Given the description of an element on the screen output the (x, y) to click on. 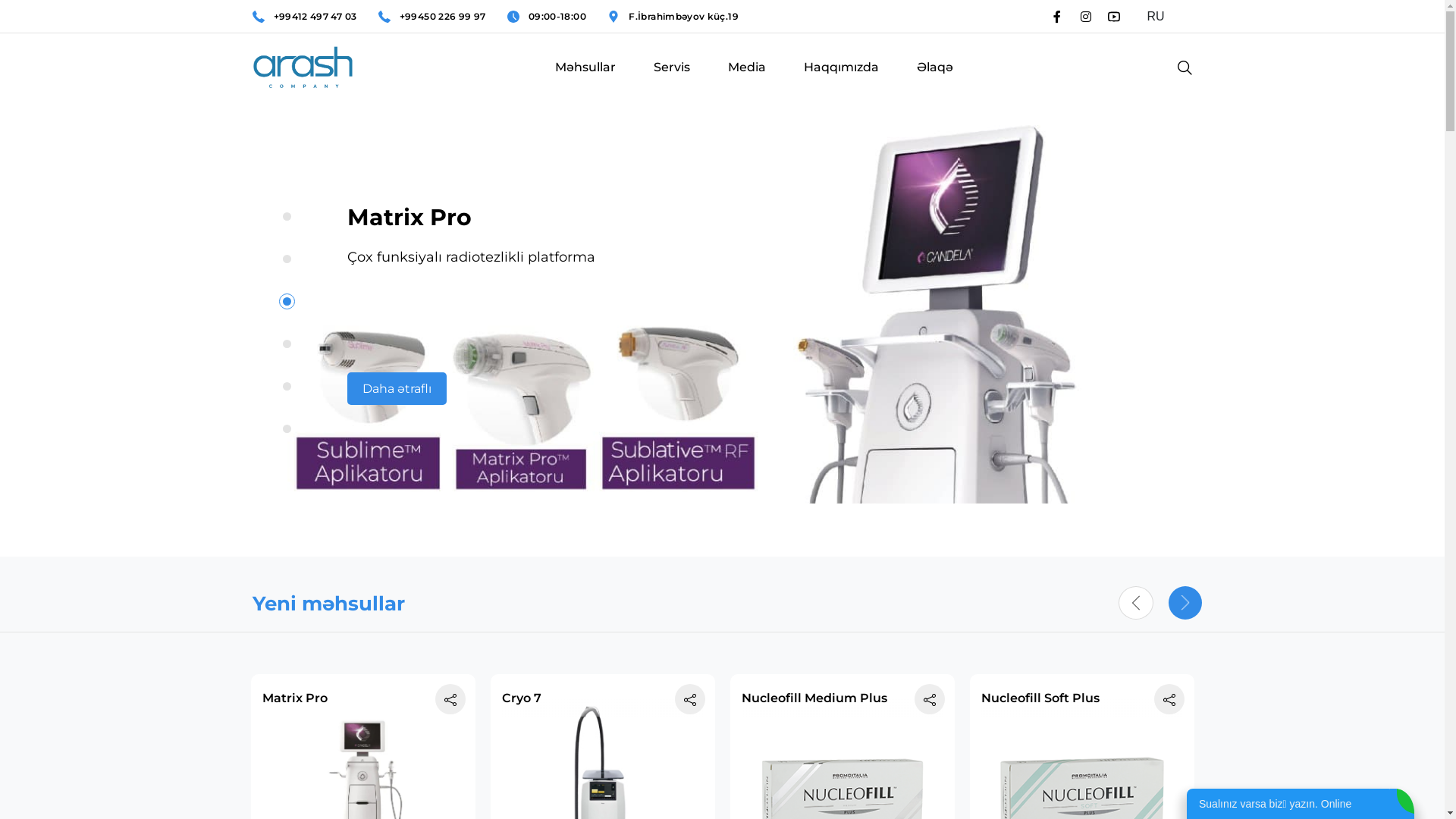
6 Element type: text (286, 428)
1 Element type: text (286, 216)
RU Element type: text (1163, 16)
Servis Element type: text (671, 81)
+99412 497 47 03 Element type: text (314, 16)
+99450 226 99 97 Element type: text (442, 16)
4 Element type: text (286, 343)
Media Element type: text (746, 81)
2 Element type: text (286, 258)
09:00-18:00 Element type: text (557, 16)
3 Element type: text (286, 301)
5 Element type: text (286, 386)
